Given the description of an element on the screen output the (x, y) to click on. 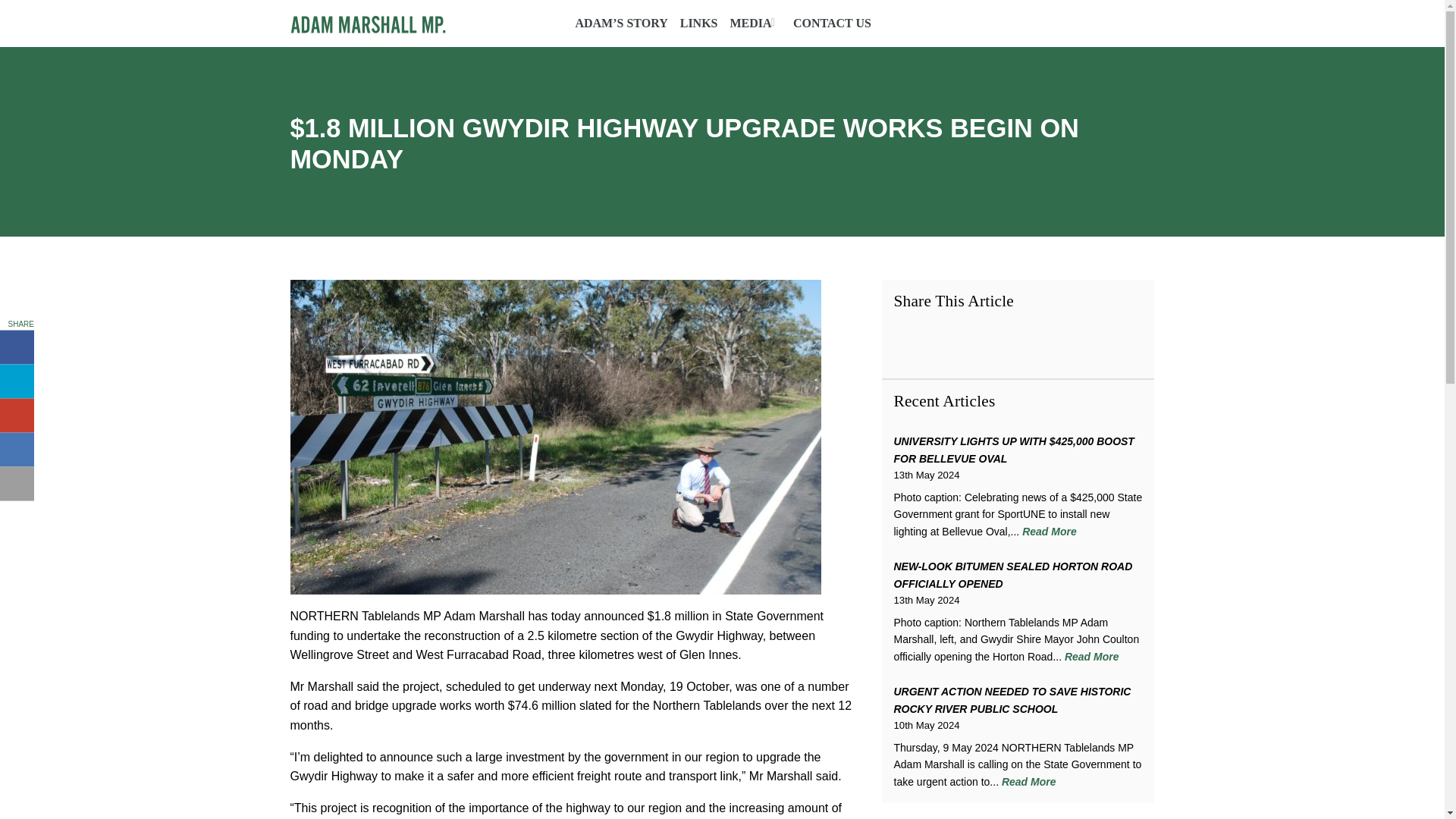
MEDIA (752, 23)
NEW-LOOK BITUMEN SEALED HORTON ROAD OFFICIALLY OPENED (1012, 574)
Read More (1029, 781)
Contact Us (831, 23)
share on twitter (16, 380)
share on facebook (16, 347)
share on linkedin (16, 449)
share on google plus (16, 415)
share via email (16, 483)
Media (752, 23)
Search (1148, 21)
Read More (1091, 656)
CONTACT US (831, 23)
Read More (1049, 531)
